Given the description of an element on the screen output the (x, y) to click on. 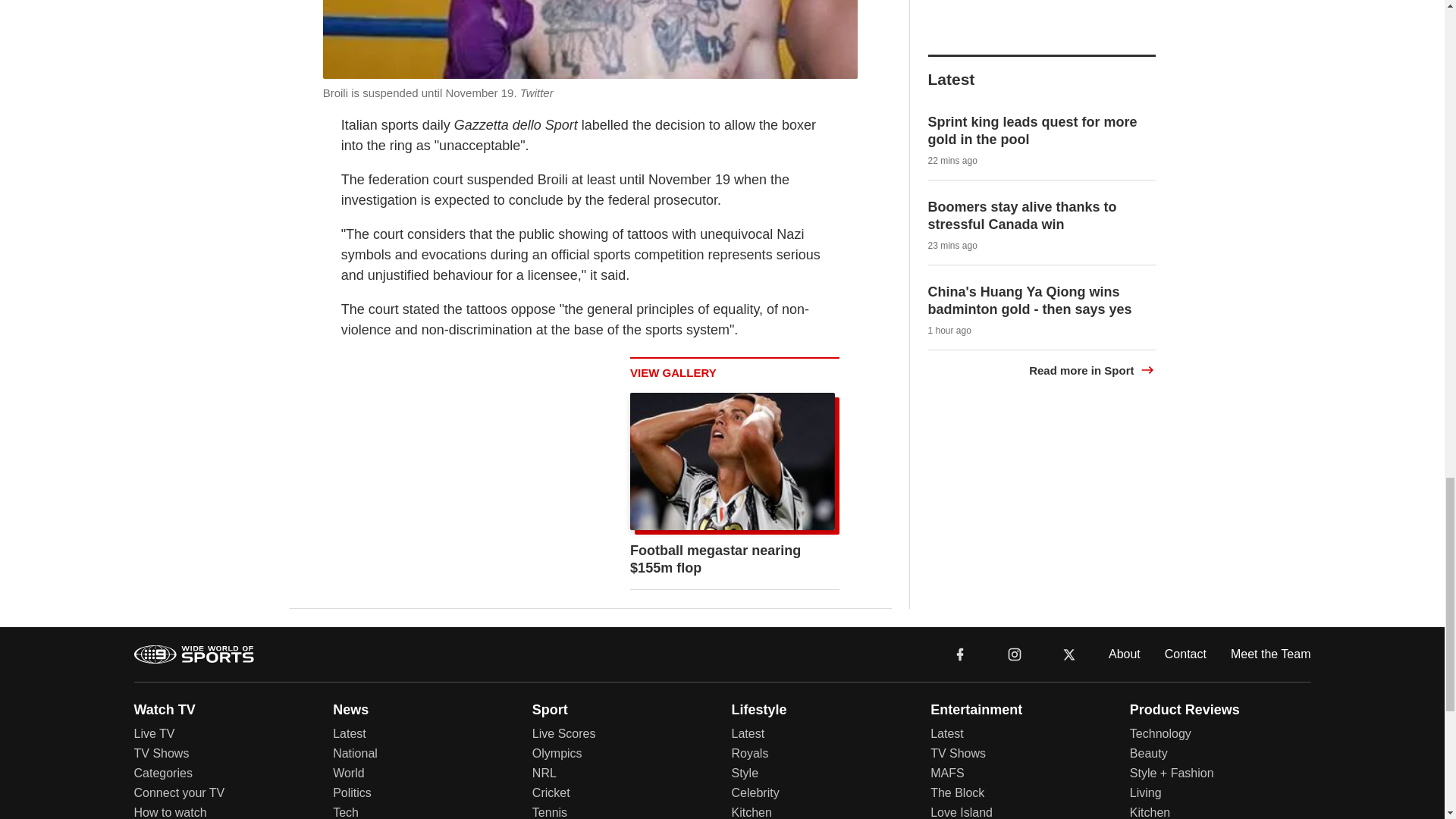
Live TV (153, 595)
facebook (959, 516)
x (1069, 516)
instagram (1013, 516)
Categories (162, 635)
About (1124, 516)
instagram (1013, 516)
facebook (959, 516)
x (1069, 516)
x (1069, 516)
